Given the description of an element on the screen output the (x, y) to click on. 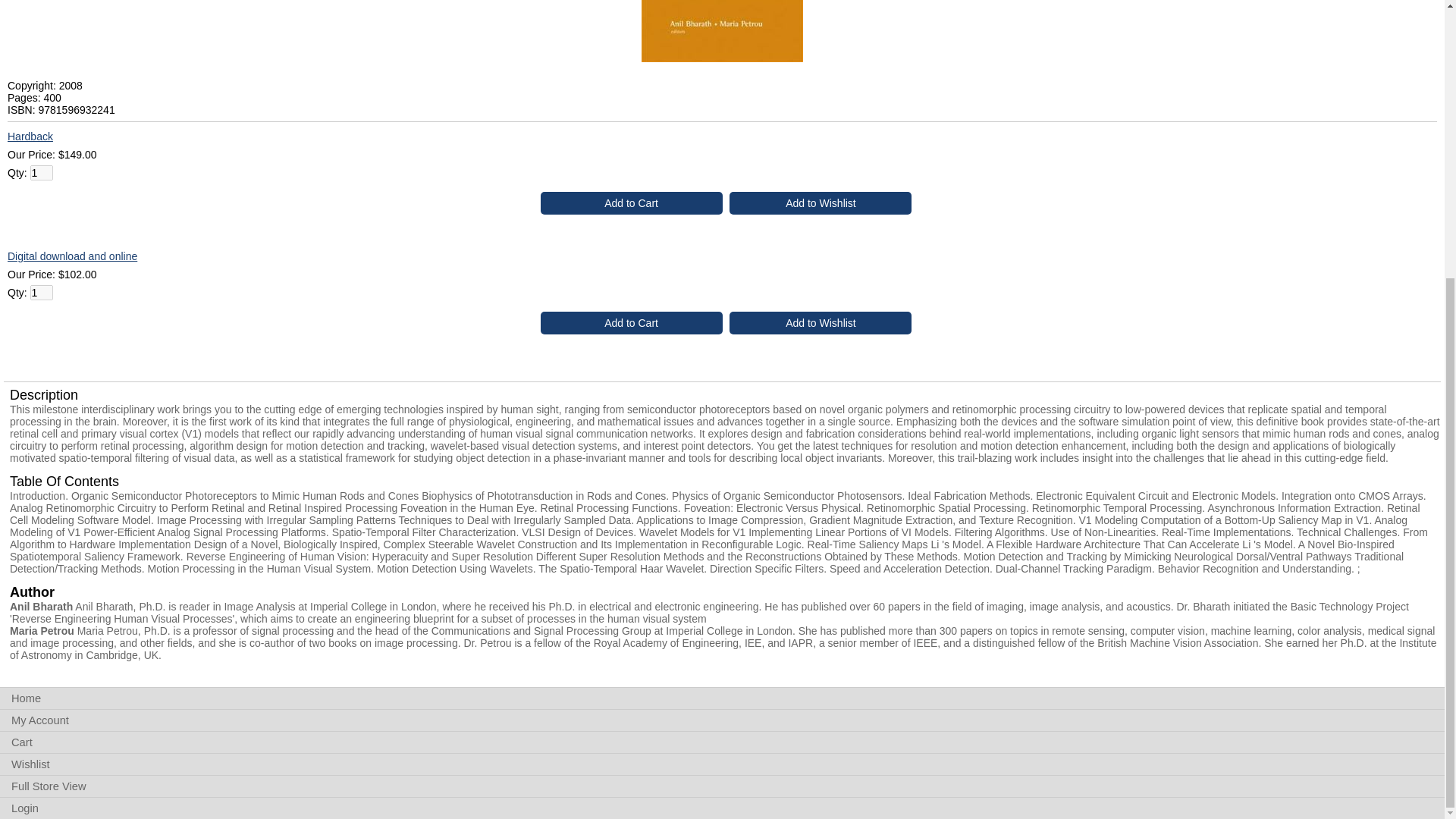
Add to Cart (631, 202)
Add to Wishlist (820, 323)
1 (41, 172)
Add to Wishlist (820, 202)
Add to Cart (631, 202)
Next Generation Artificial Vision Systems (722, 58)
Add to Cart (631, 323)
Add to Wishlist (820, 202)
1 (41, 292)
Digital download and online (71, 256)
Hardback (29, 136)
